Given the description of an element on the screen output the (x, y) to click on. 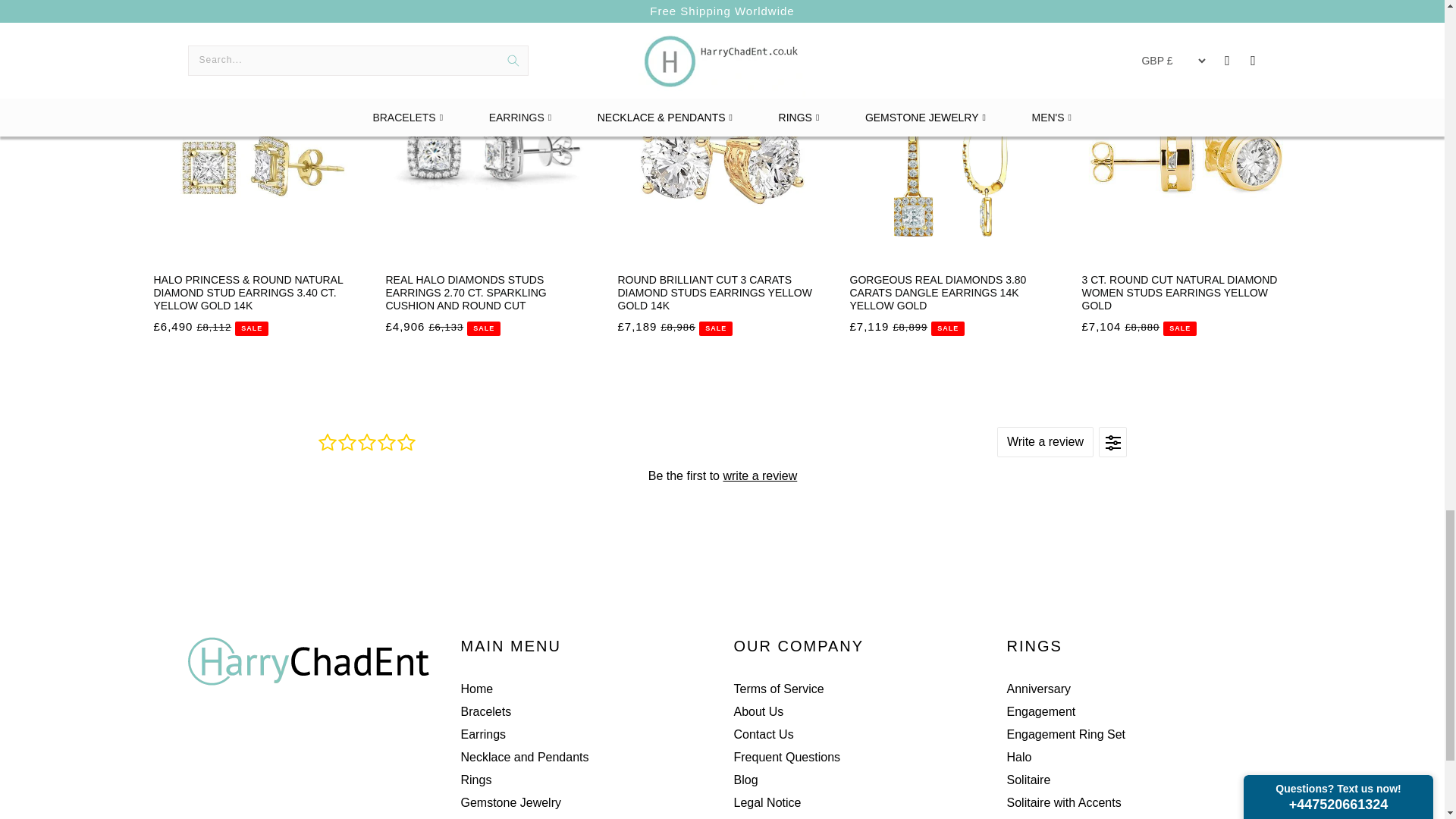
Product reviews widget (722, 474)
